Given the description of an element on the screen output the (x, y) to click on. 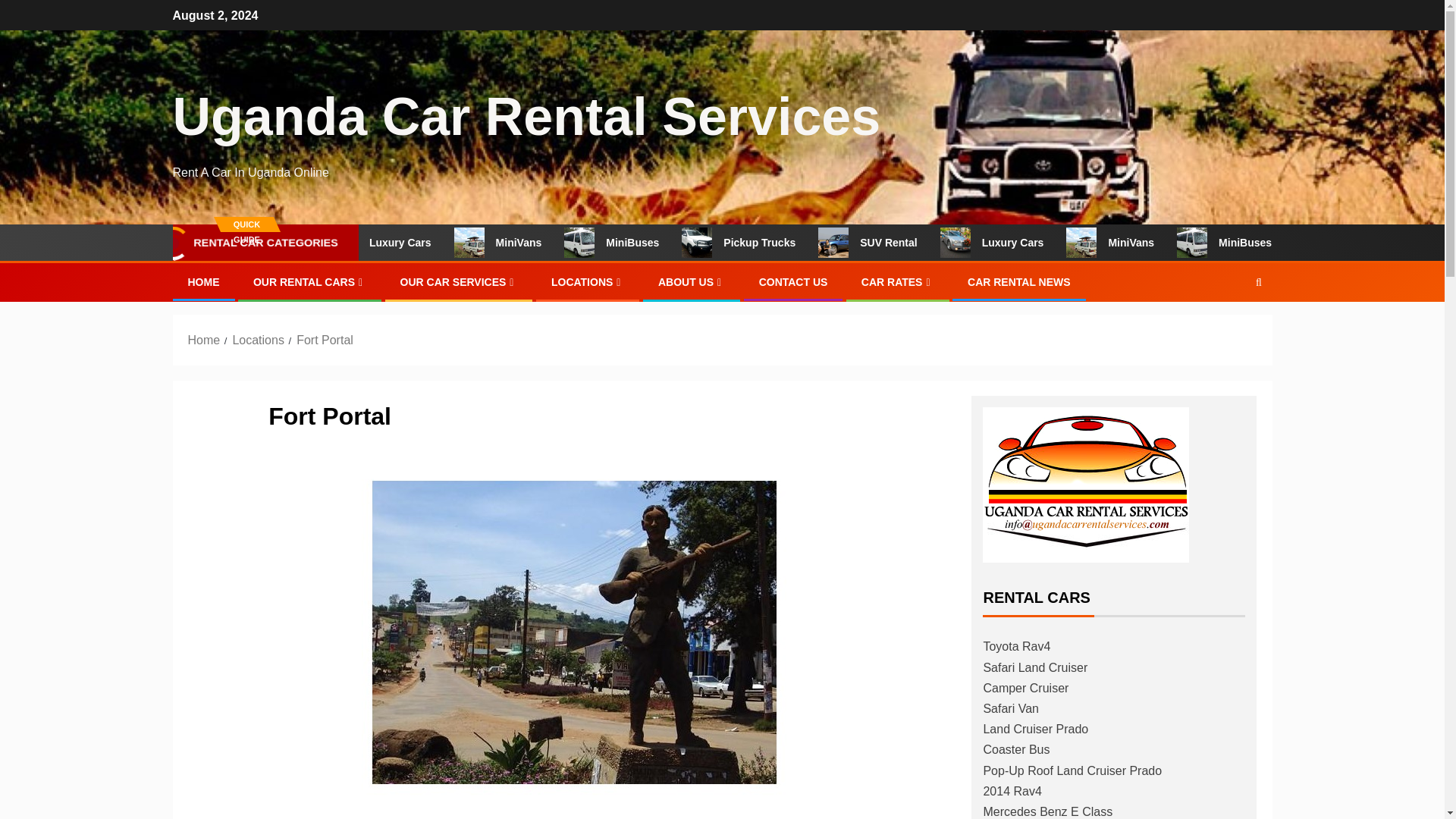
Luxury Cars (427, 242)
OUR RENTAL CARS (309, 282)
SUV Rental (913, 242)
Uganda Car Rental Services (526, 116)
MiniBuses (658, 242)
HOME (203, 282)
MiniVans (544, 242)
MiniVans (1154, 242)
MiniBuses (1267, 242)
Luxury Cars (1037, 242)
Pickup Trucks (784, 242)
